Given the description of an element on the screen output the (x, y) to click on. 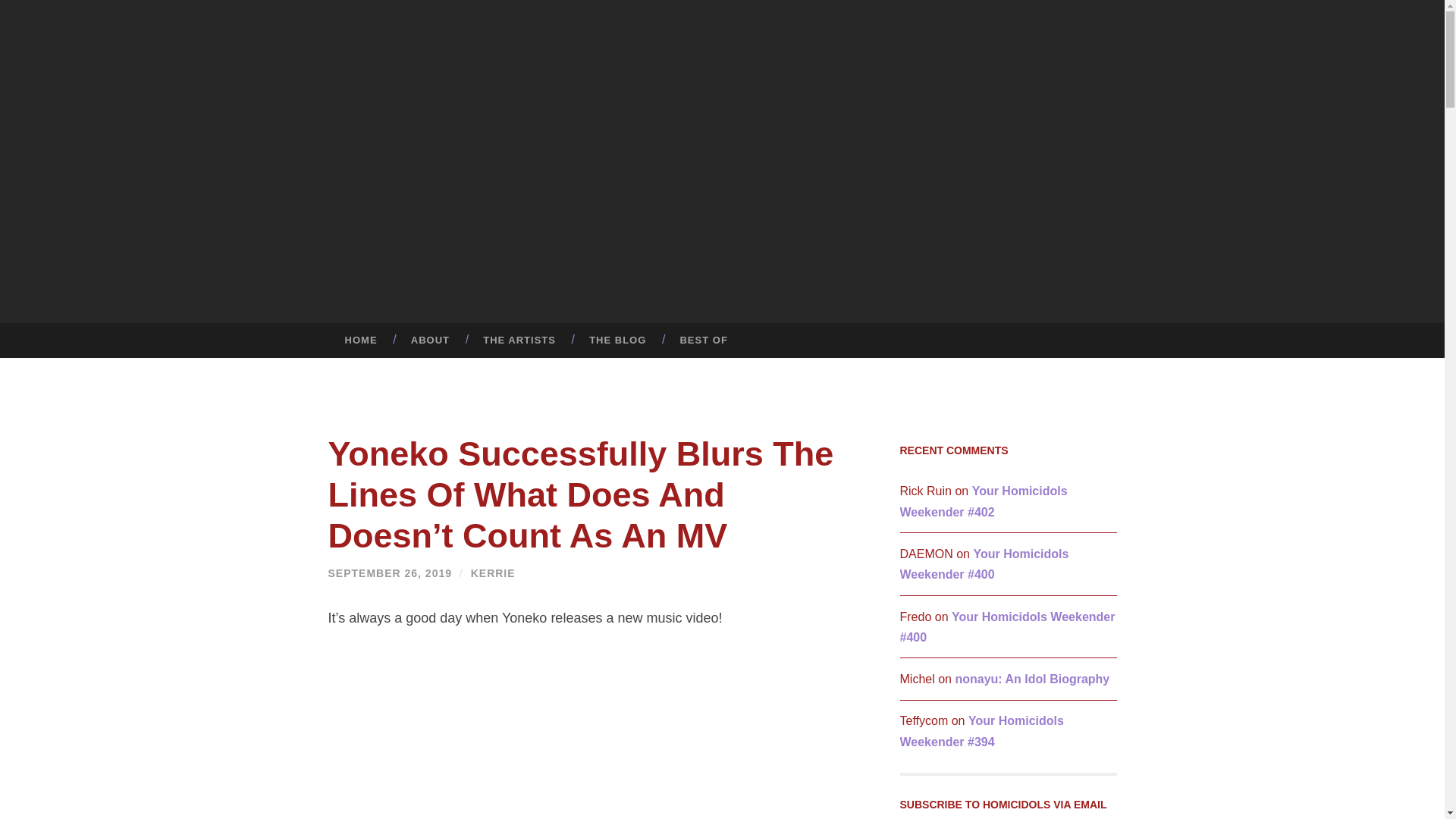
HOME (360, 339)
ABOUT (429, 339)
SEPTEMBER 26, 2019 (389, 573)
KERRIE (492, 573)
nonayu: An Idol Biography (1032, 678)
HOMICIDOLS (833, 186)
BEST OF (703, 339)
SKIP TO CONTENT (16, 334)
THE BLOG (617, 339)
THE ARTISTS (518, 339)
